Given the description of an element on the screen output the (x, y) to click on. 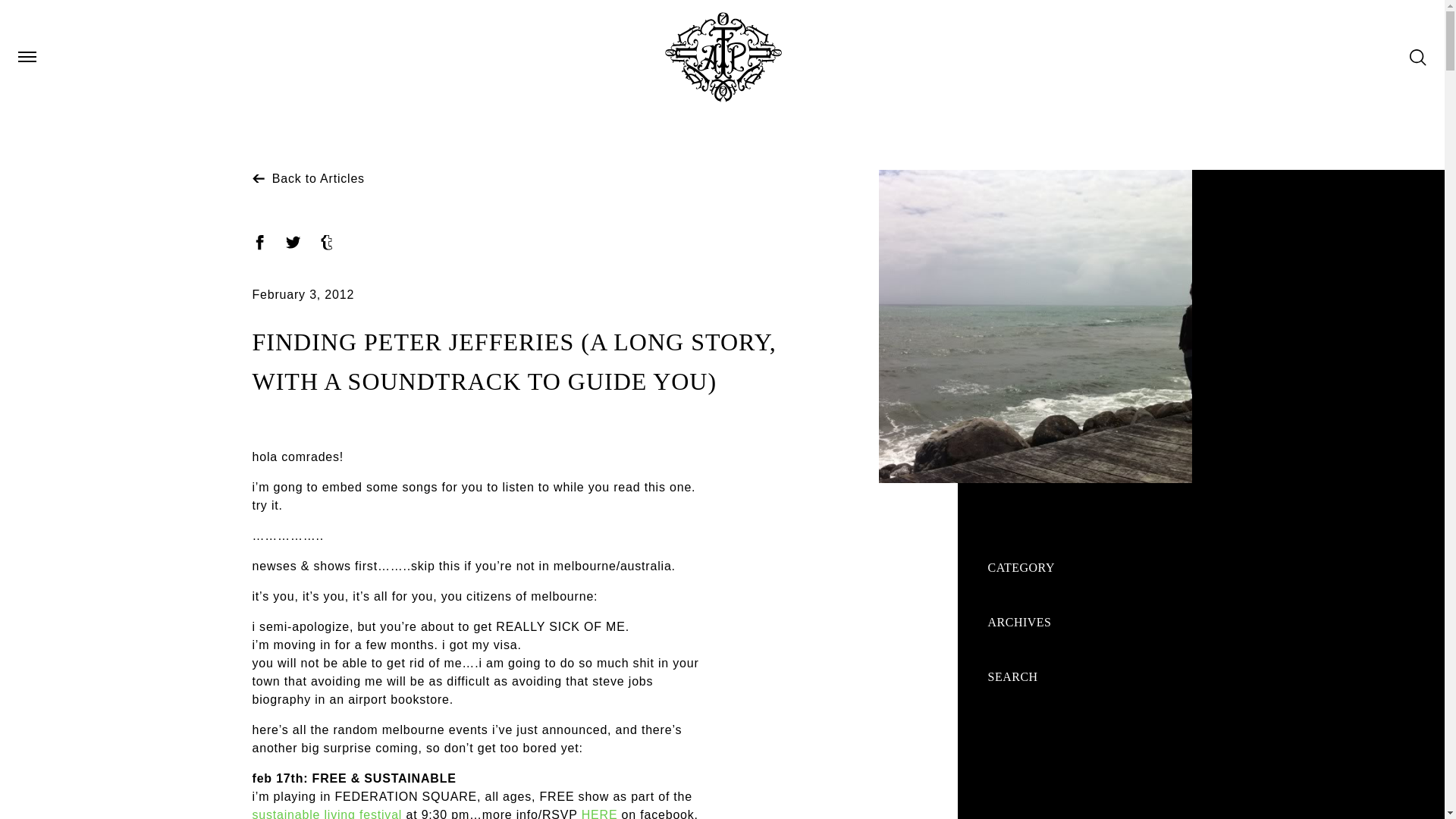
Back to Articles (307, 178)
Facebook (258, 242)
Twitter (292, 242)
